Given the description of an element on the screen output the (x, y) to click on. 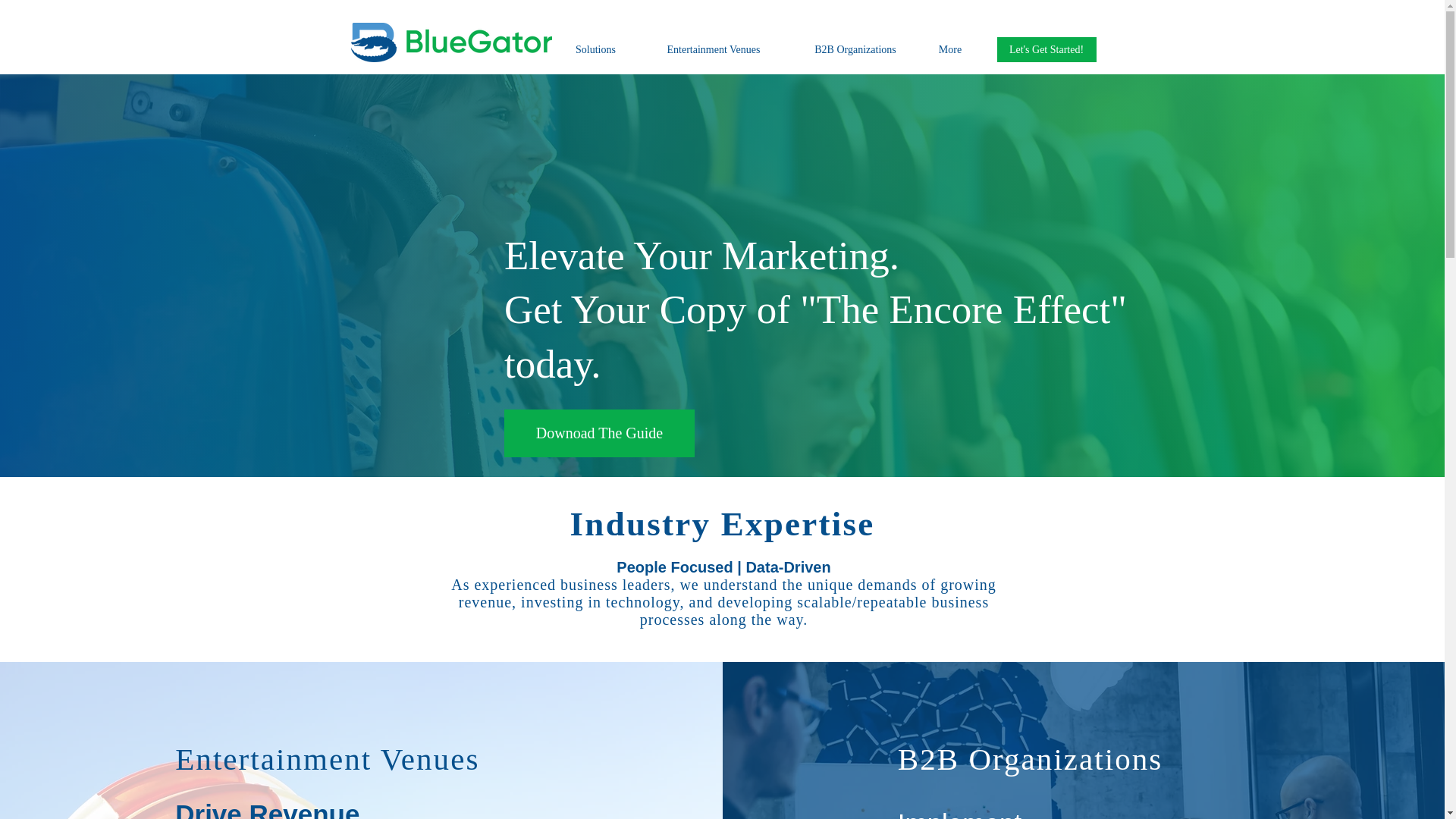
Downoad The Guide (598, 433)
Entertainment Venues (713, 49)
Solutions (595, 49)
B2B Organizations (855, 49)
Let's Get Started! (1045, 49)
